Given the description of an element on the screen output the (x, y) to click on. 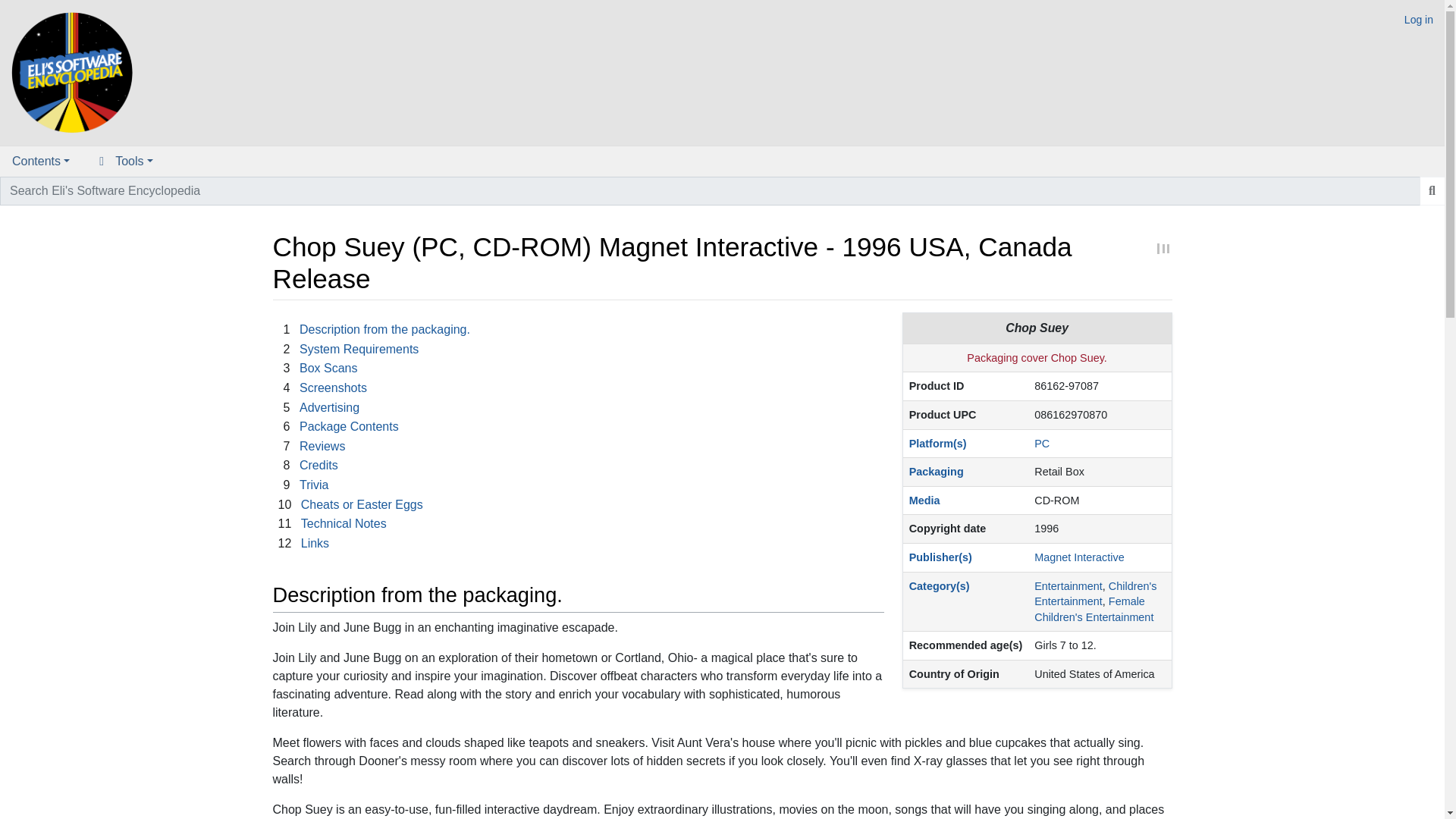
3 Box Scans (317, 367)
Category:Hardware (937, 443)
Female Children's Entertainment (1093, 609)
Packaging cover Chop Suey. (1036, 357)
Visit the main page (71, 71)
File:86162-97087.jpg (1036, 357)
7 Reviews (311, 445)
Children's Entertainment (1094, 593)
Entertainment (1067, 585)
11 Technical Notes (331, 522)
